Given the description of an element on the screen output the (x, y) to click on. 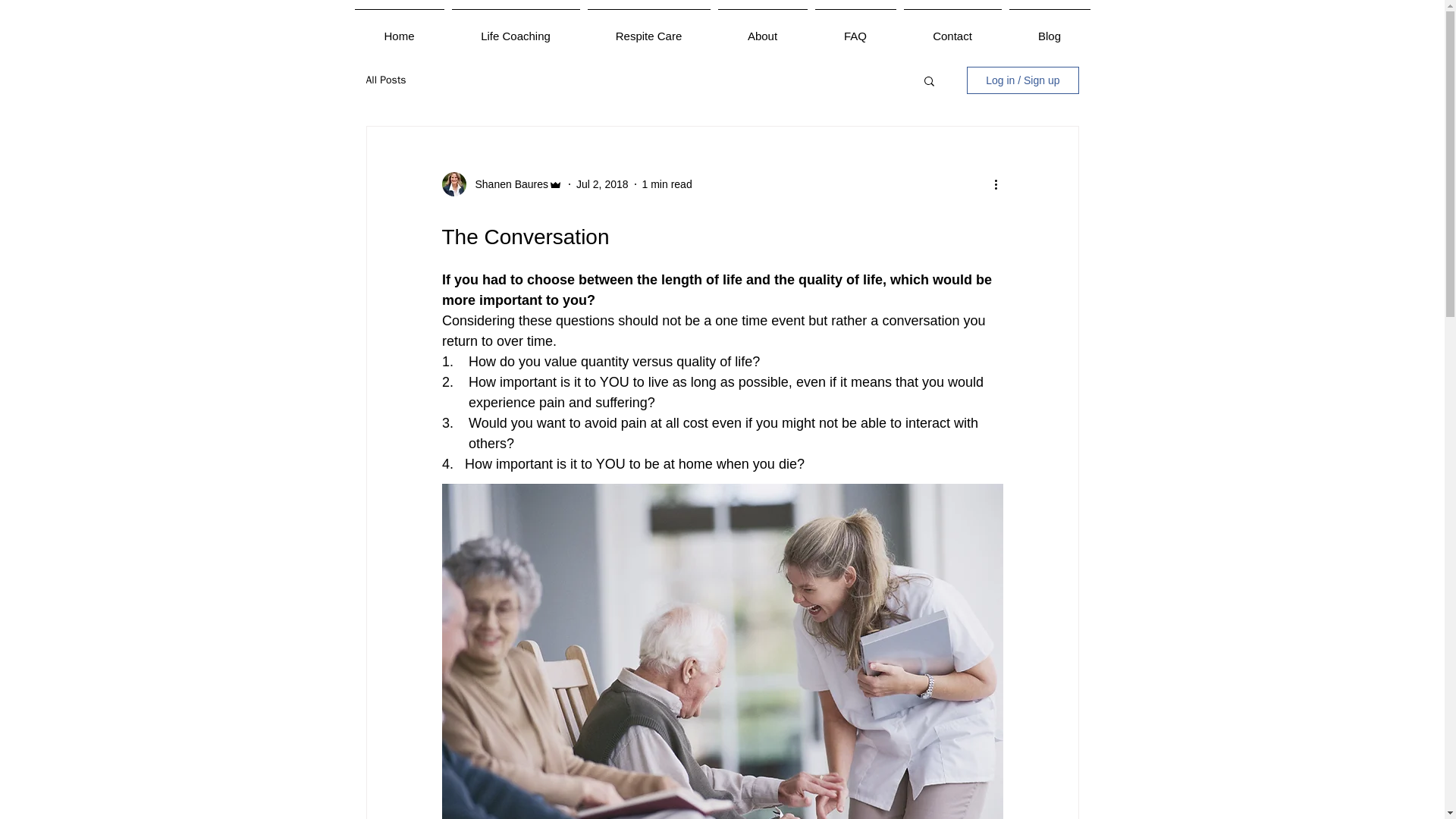
Respite Care (648, 29)
Contact (951, 29)
Shanen Baures (506, 183)
Life Coaching (514, 29)
FAQ (854, 29)
Blog (1050, 29)
All Posts (385, 79)
1 min read (667, 183)
Jul 2, 2018 (602, 183)
Home (398, 29)
About (762, 29)
